Given the description of an element on the screen output the (x, y) to click on. 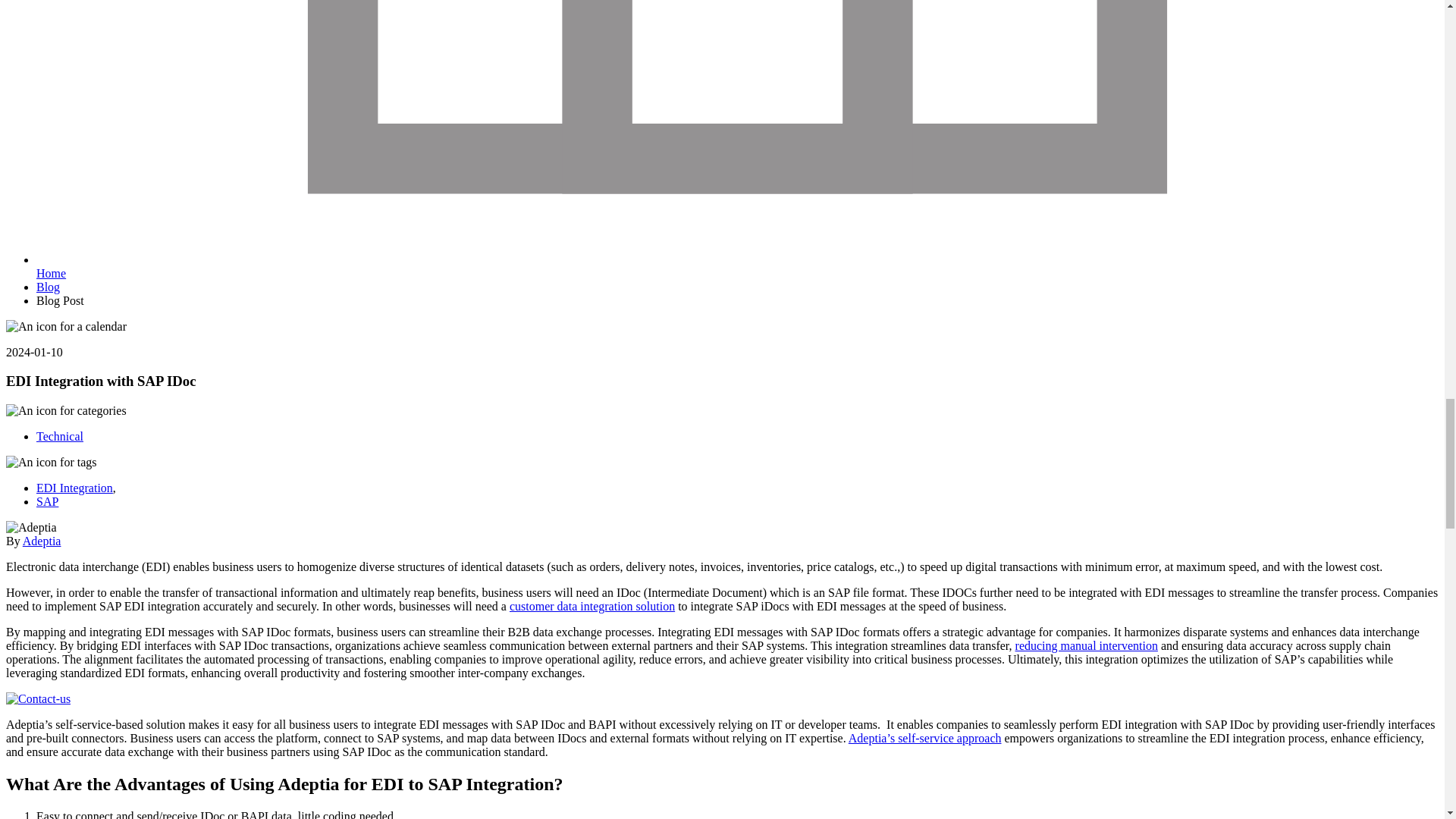
EDI Integration (74, 487)
SAP (47, 501)
From the Blog (47, 286)
Adeptia (50, 273)
Technical (59, 436)
